Given the description of an element on the screen output the (x, y) to click on. 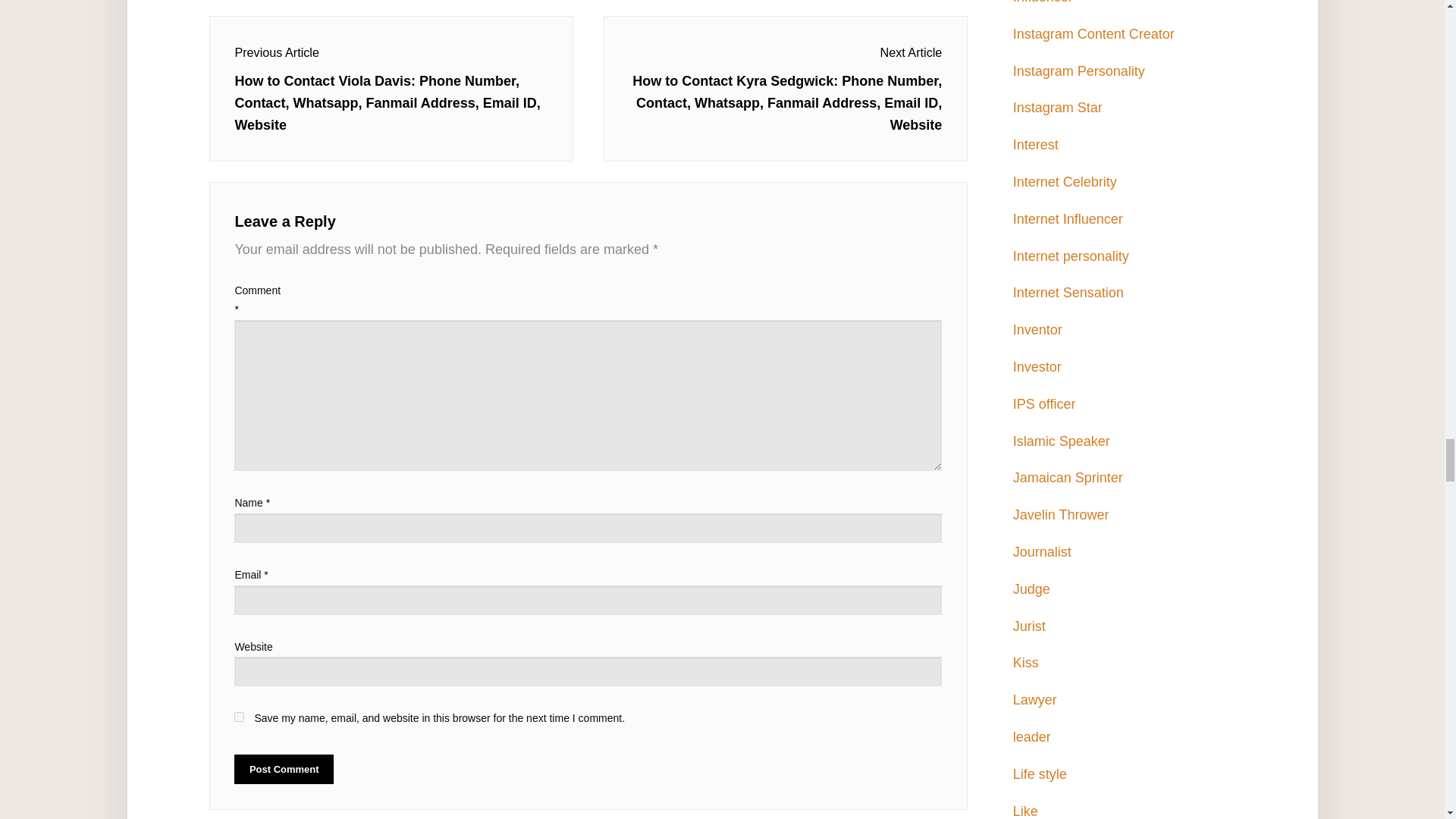
yes (239, 716)
Post Comment (283, 768)
